Given the description of an element on the screen output the (x, y) to click on. 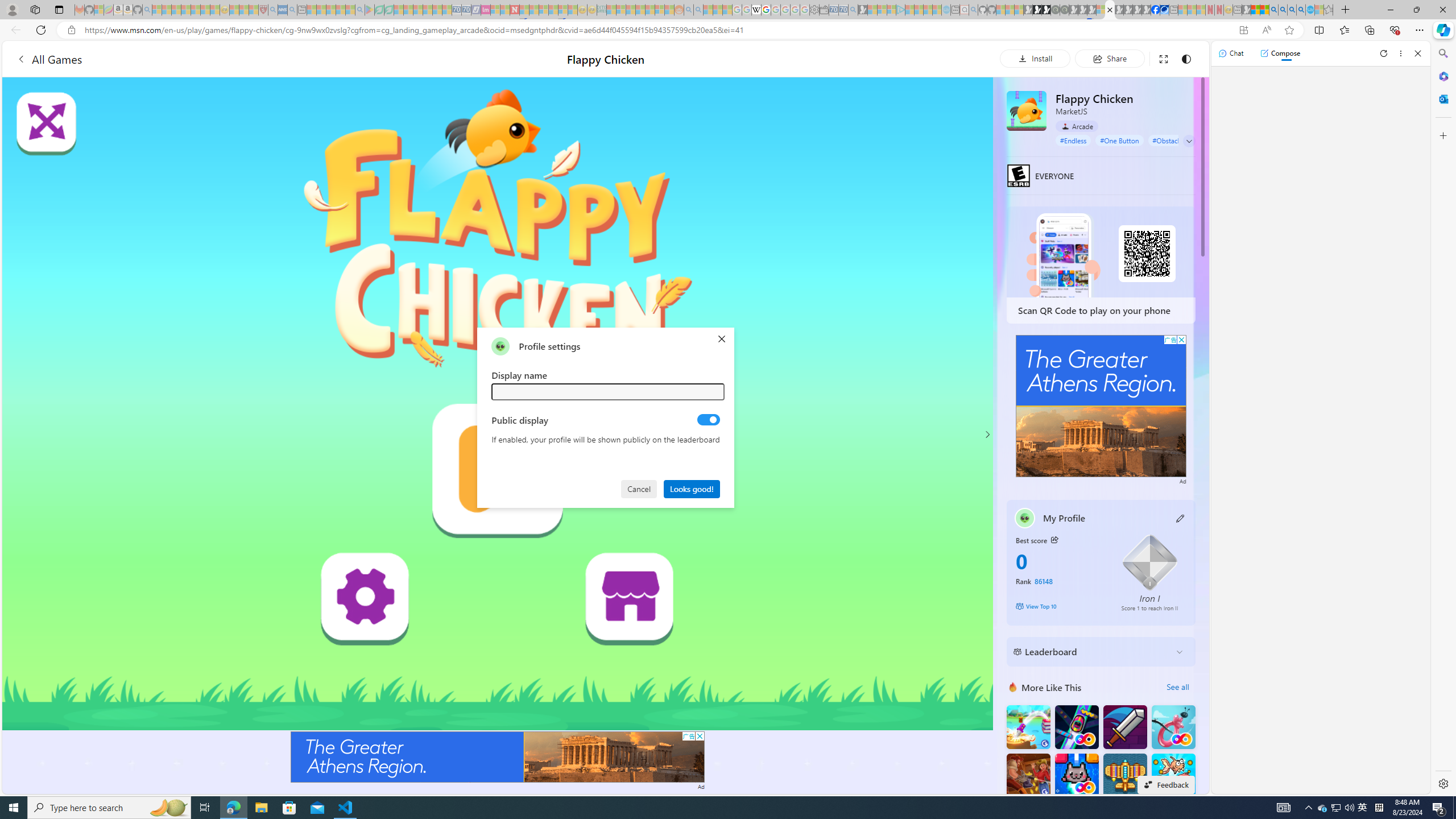
App available. Install Flappy Chicken (1243, 29)
Future Focus Report 2024 - Sleeping (1064, 9)
See all (1177, 687)
Cancel (639, 488)
